Given the description of an element on the screen output the (x, y) to click on. 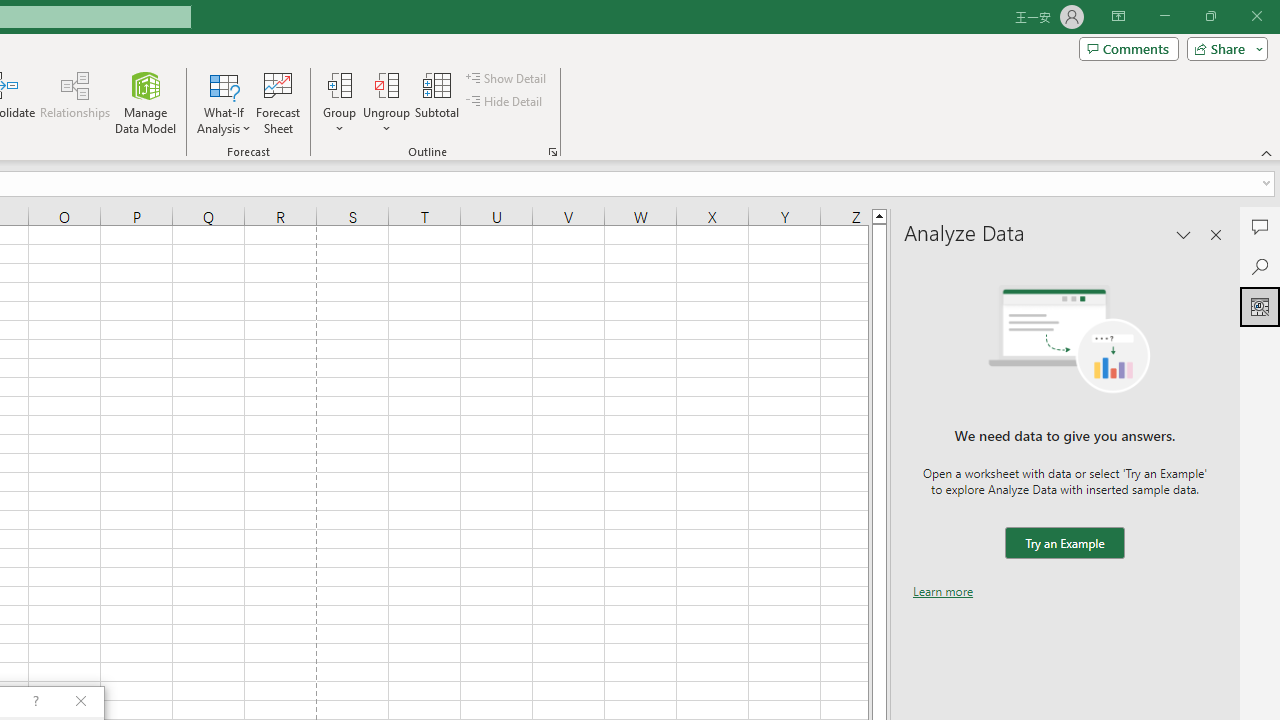
Relationships (75, 102)
Task Pane Options (1183, 234)
Manage Data Model (145, 102)
Collapse the Ribbon (1267, 152)
Restore Down (1210, 16)
Subtotal (437, 102)
Group and Outline Settings (552, 151)
Minimize (1164, 16)
Hide Detail (505, 101)
What-If Analysis (223, 102)
Line up (879, 215)
Group... (339, 102)
Ungroup... (386, 102)
Search (1260, 266)
